Given the description of an element on the screen output the (x, y) to click on. 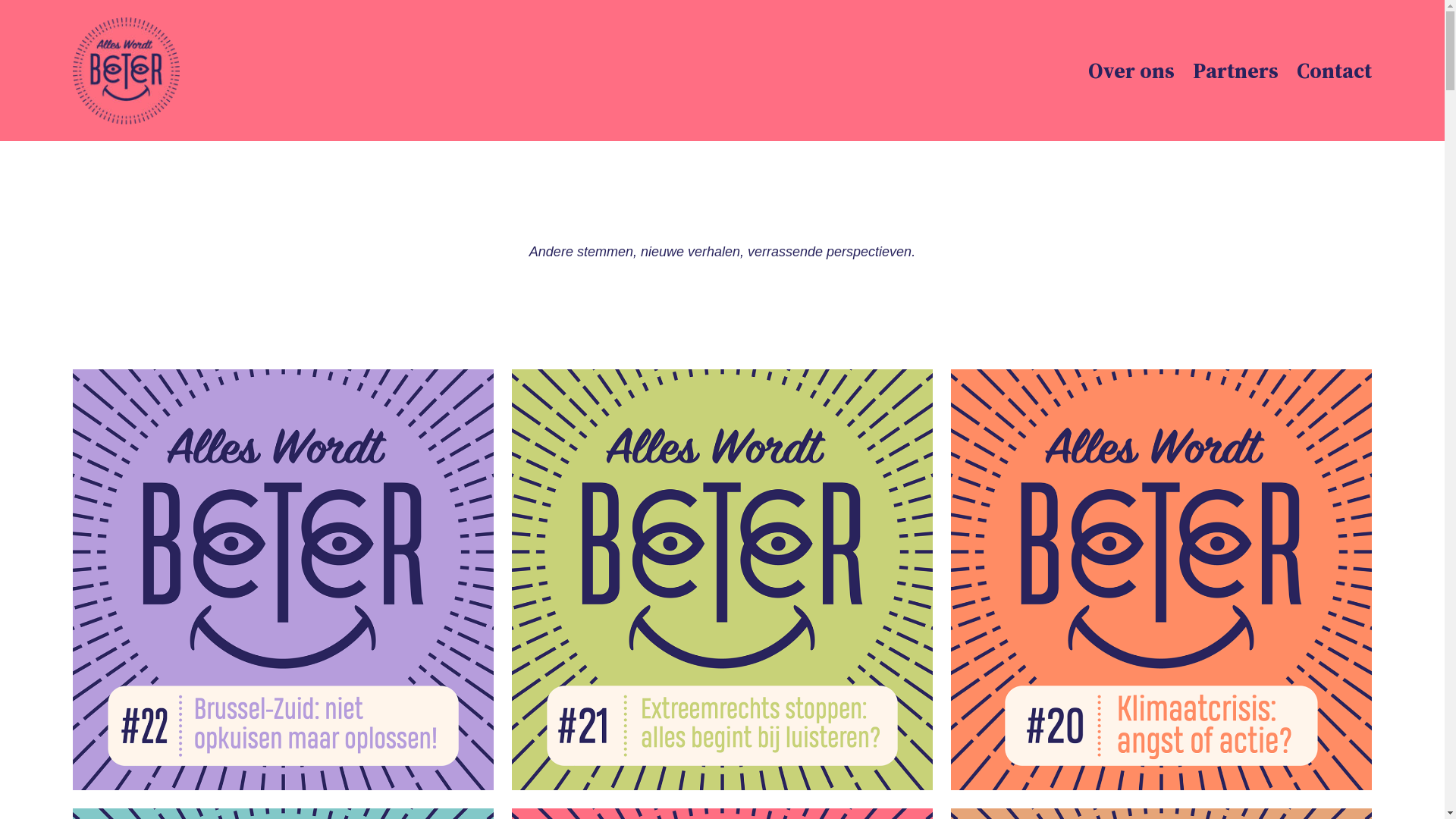
Over ons Element type: text (1131, 70)
Contact Element type: text (1333, 70)
Partners Element type: text (1235, 70)
